Given the description of an element on the screen output the (x, y) to click on. 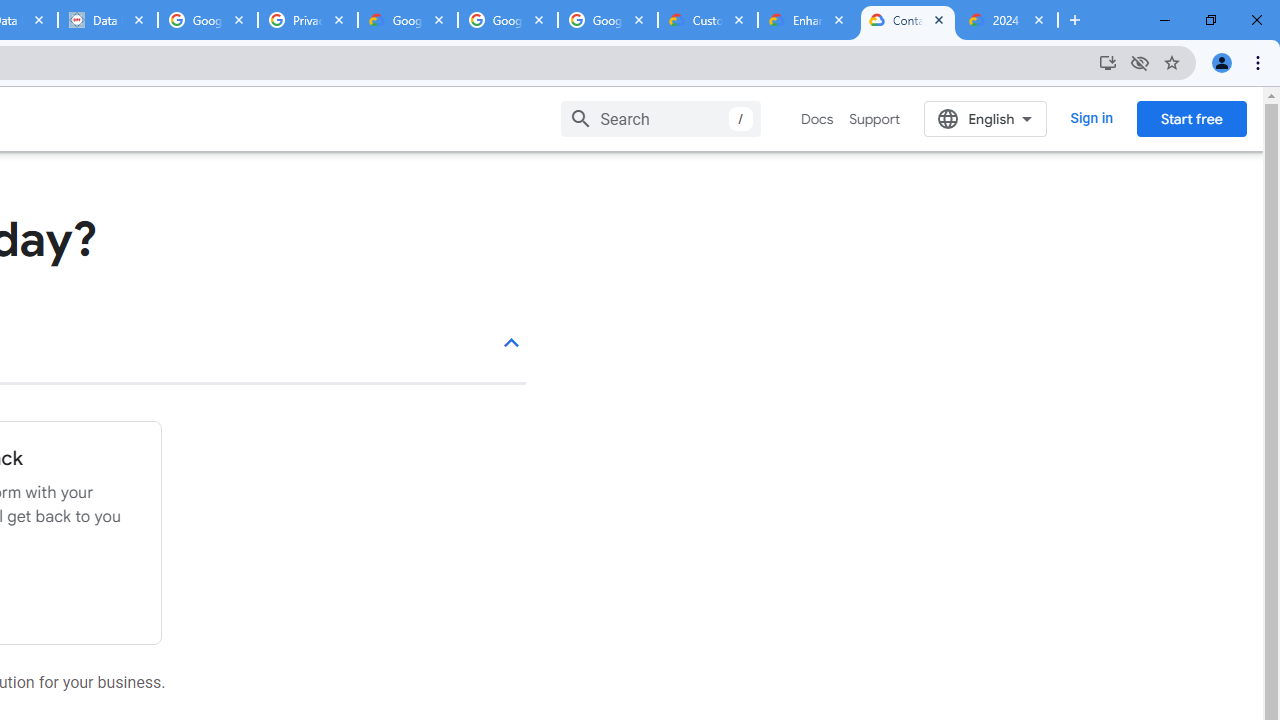
Google Cloud Terms Directory | Google Cloud (408, 20)
Google Workspace - Specific Terms (508, 20)
Install Google Cloud (1107, 62)
Support (874, 119)
